Given the description of an element on the screen output the (x, y) to click on. 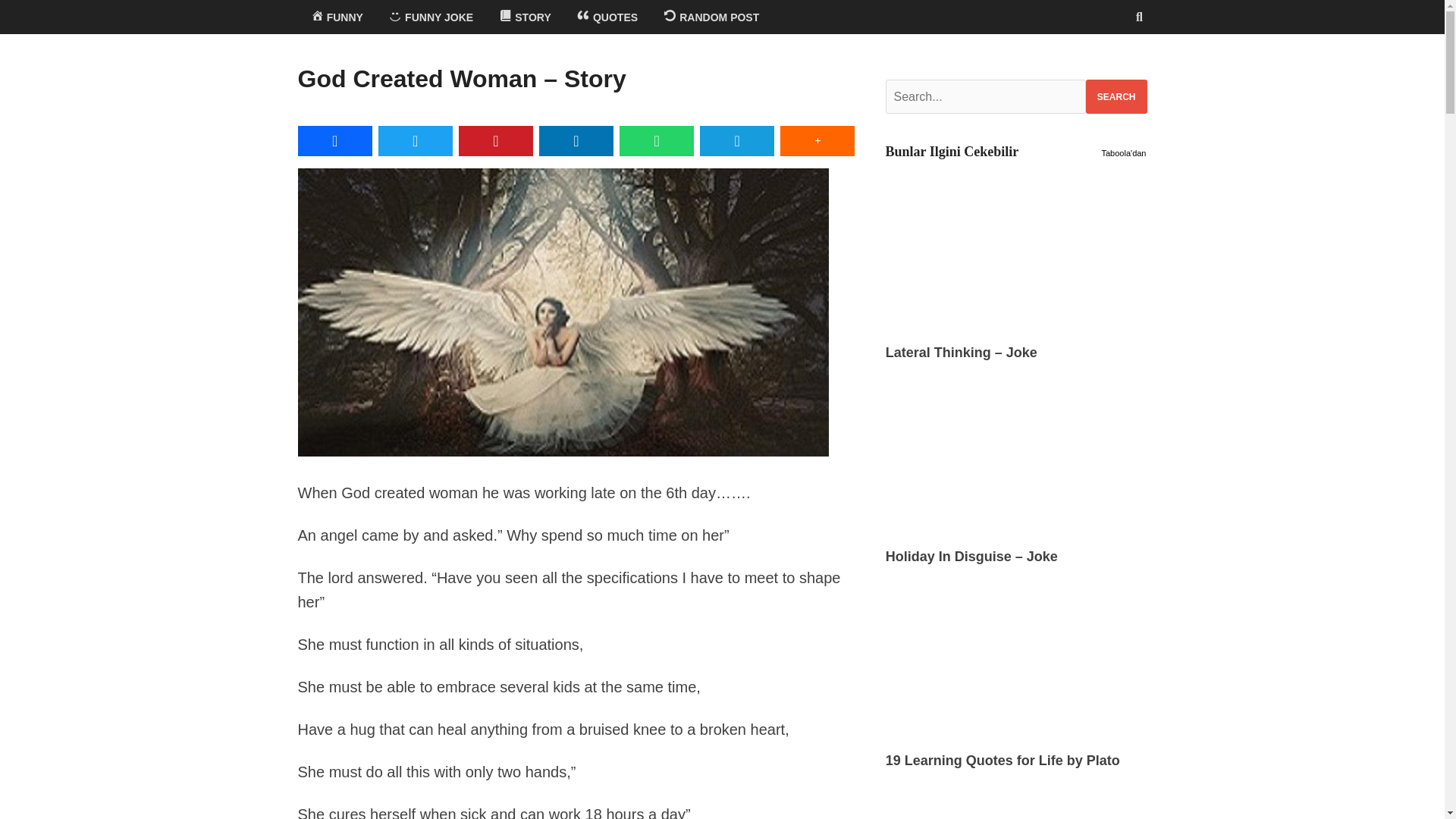
Submit this to Pinterest (495, 141)
More share links (817, 141)
SEARCH (1116, 96)
Telegram (737, 141)
RANDOM POST (710, 17)
QUOTES (607, 17)
Share this on Facebook (334, 141)
FUNNY (336, 17)
STORY (525, 17)
